Given the description of an element on the screen output the (x, y) to click on. 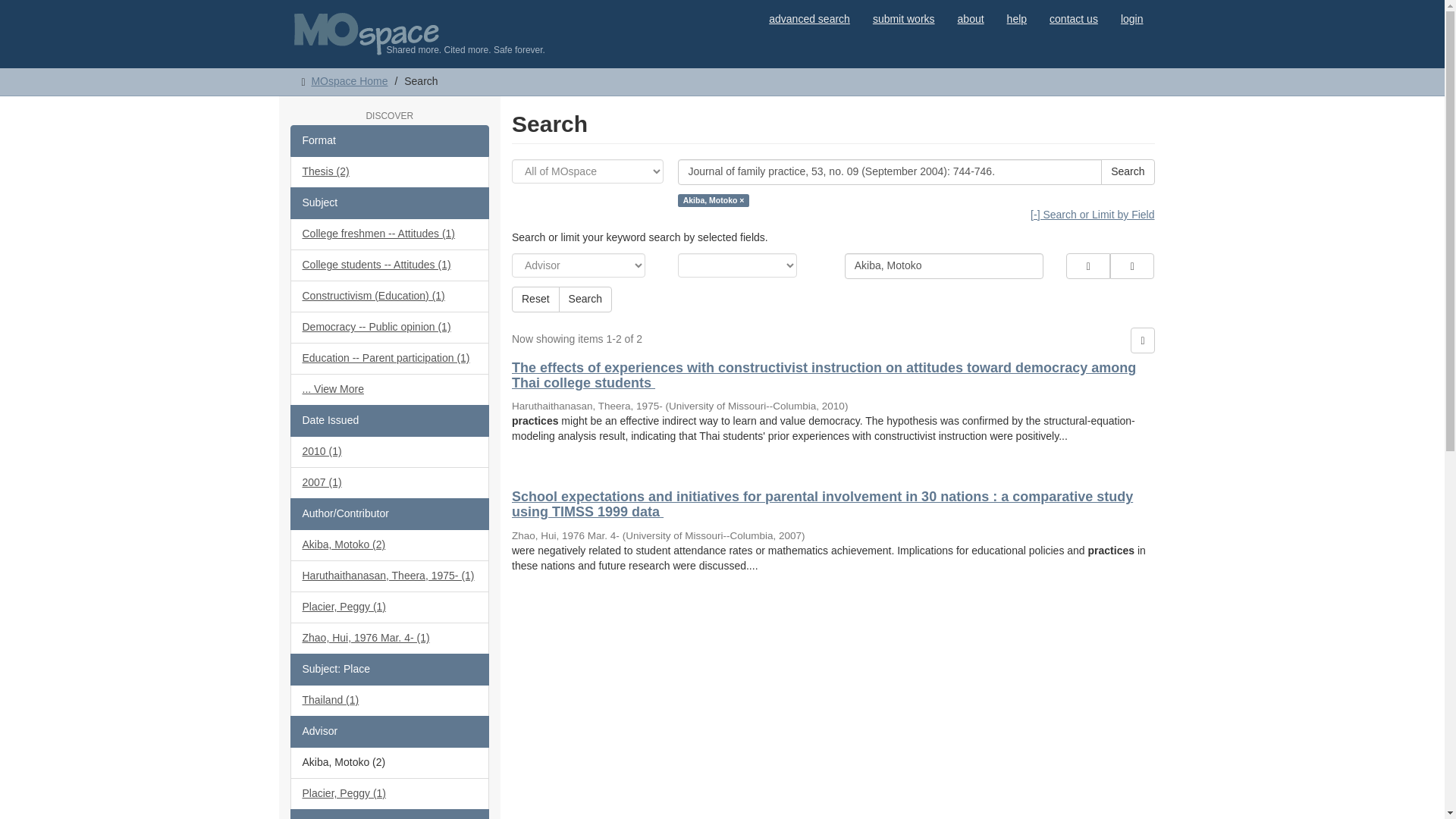
advanced search (809, 18)
login (1131, 18)
Add Filter (1087, 266)
Advisor (389, 731)
Subject: Place (389, 669)
MOspace Home (349, 80)
Remove (1131, 266)
submit works (903, 18)
about (970, 18)
Date Issued (389, 420)
